Given the description of an element on the screen output the (x, y) to click on. 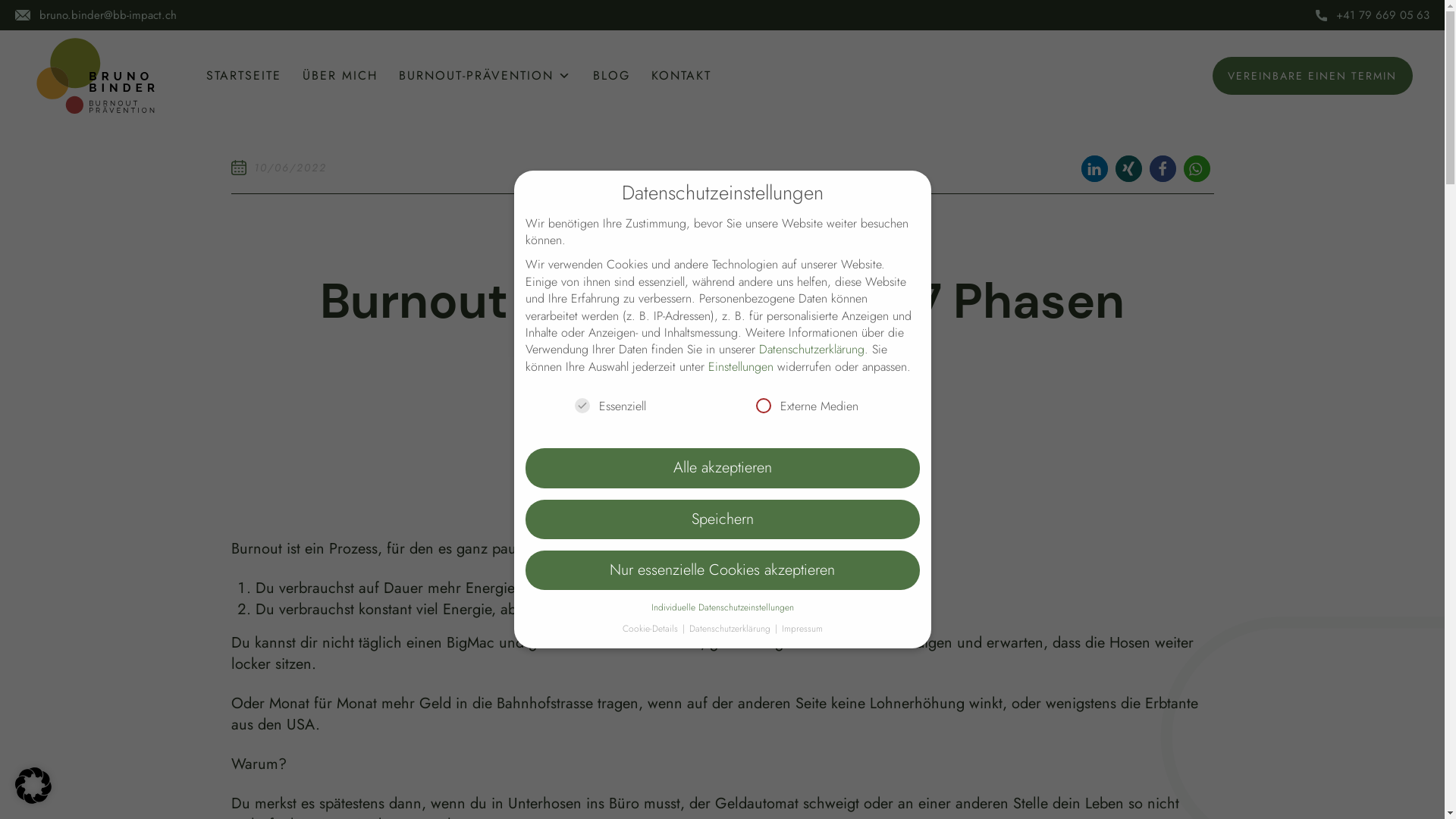
Bei XING teilen Element type: hover (1127, 168)
Cookie-Details Element type: text (650, 628)
Alle akzeptieren Element type: text (721, 467)
VEREINBARE EINEN TERMIN Element type: text (1312, 75)
BLOG Element type: text (611, 75)
+41 79 669 05 63 Element type: text (1382, 14)
Bei LinkedIn teilen Element type: hover (1094, 168)
Bei Whatsapp teilen Element type: hover (1196, 168)
Nur essenzielle Cookies akzeptieren Element type: text (721, 569)
Speichern Element type: text (721, 519)
KONTAKT Element type: text (681, 75)
Impressum Element type: text (801, 628)
STARTSEITE Element type: text (243, 75)
bruno.binder@bb-impact.ch Element type: text (107, 14)
Bei Facebook teilen Element type: hover (1162, 168)
Individuelle Datenschutzeinstellungen Element type: text (721, 607)
Einstellungen Element type: text (740, 366)
